Given the description of an element on the screen output the (x, y) to click on. 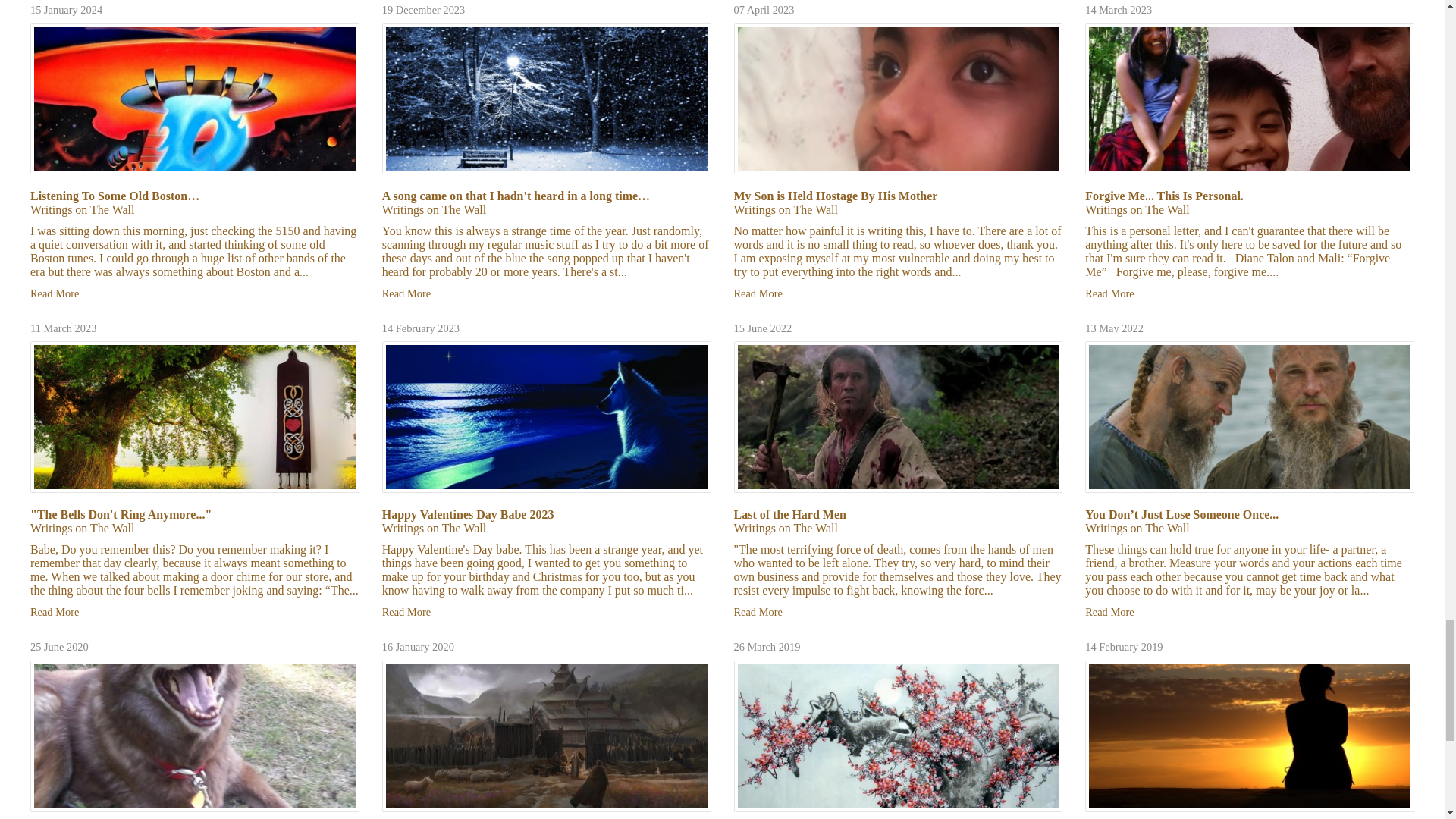
Talon20223b (897, 98)
oalinthemeadowsm (194, 417)
Bostonoriginal (194, 98)
My Son is Held Hostage By His Mother (835, 195)
falling-snow-winter-night-outtipc17kyh2mr1 (546, 98)
family1 (1248, 98)
"The Bells Don't Ring Anymore..." (120, 513)
Forgive Me... This Is Personal. (1163, 195)
fenwolfonshorenighblank (546, 417)
